Given the description of an element on the screen output the (x, y) to click on. 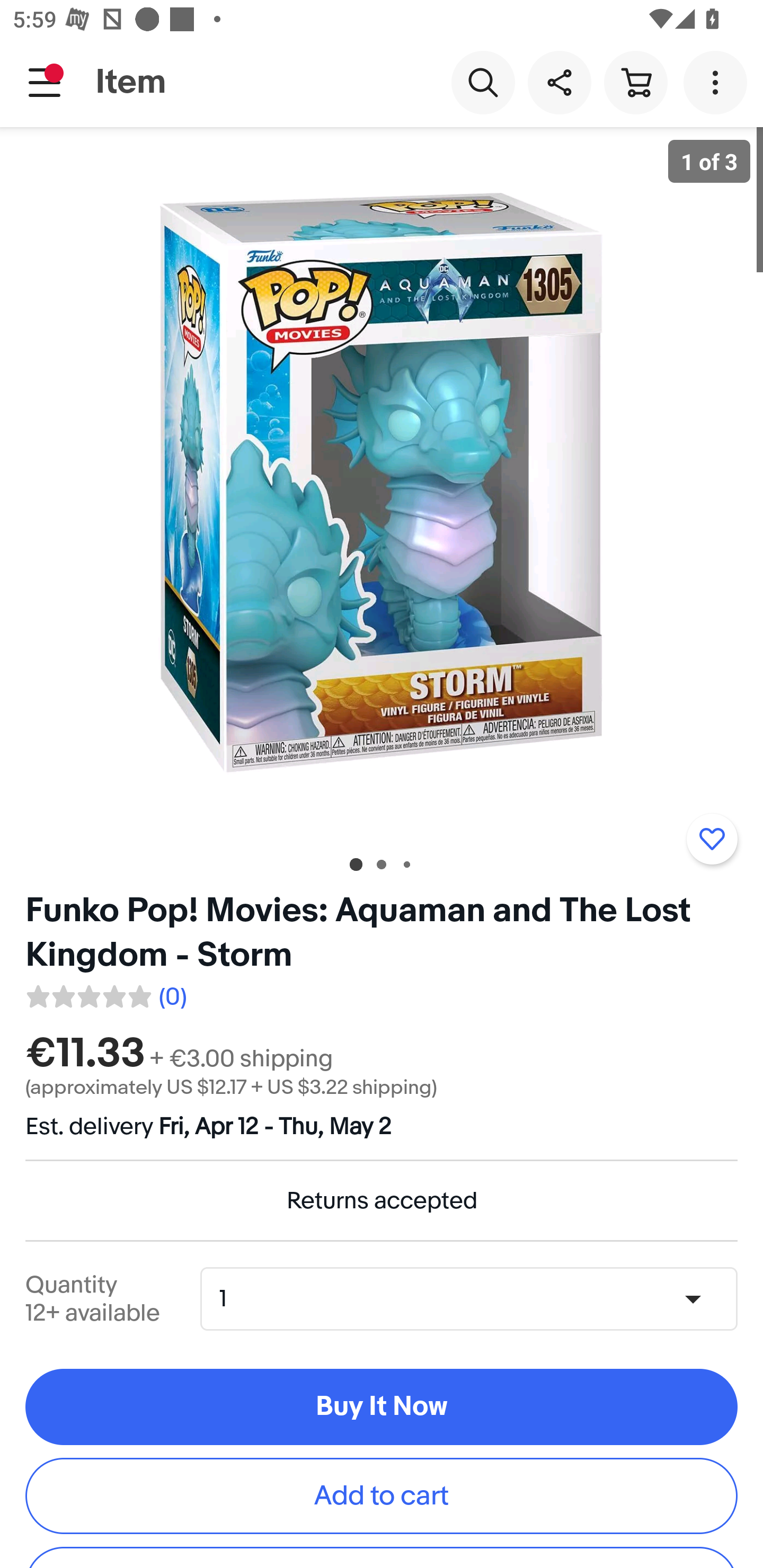
Main navigation, notification is pending, open (44, 82)
Search (482, 81)
Share this item (559, 81)
Cart button shopping cart (635, 81)
More options (718, 81)
Item image 1 of 3 (381, 482)
Add to watchlist (711, 838)
0 reviews. Average rating 0.0 out of five 0.0 (0) (105, 993)
Quantity,1,12+ available 1 (474, 1298)
Buy It Now (381, 1406)
Add to cart (381, 1495)
